Given the description of an element on the screen output the (x, y) to click on. 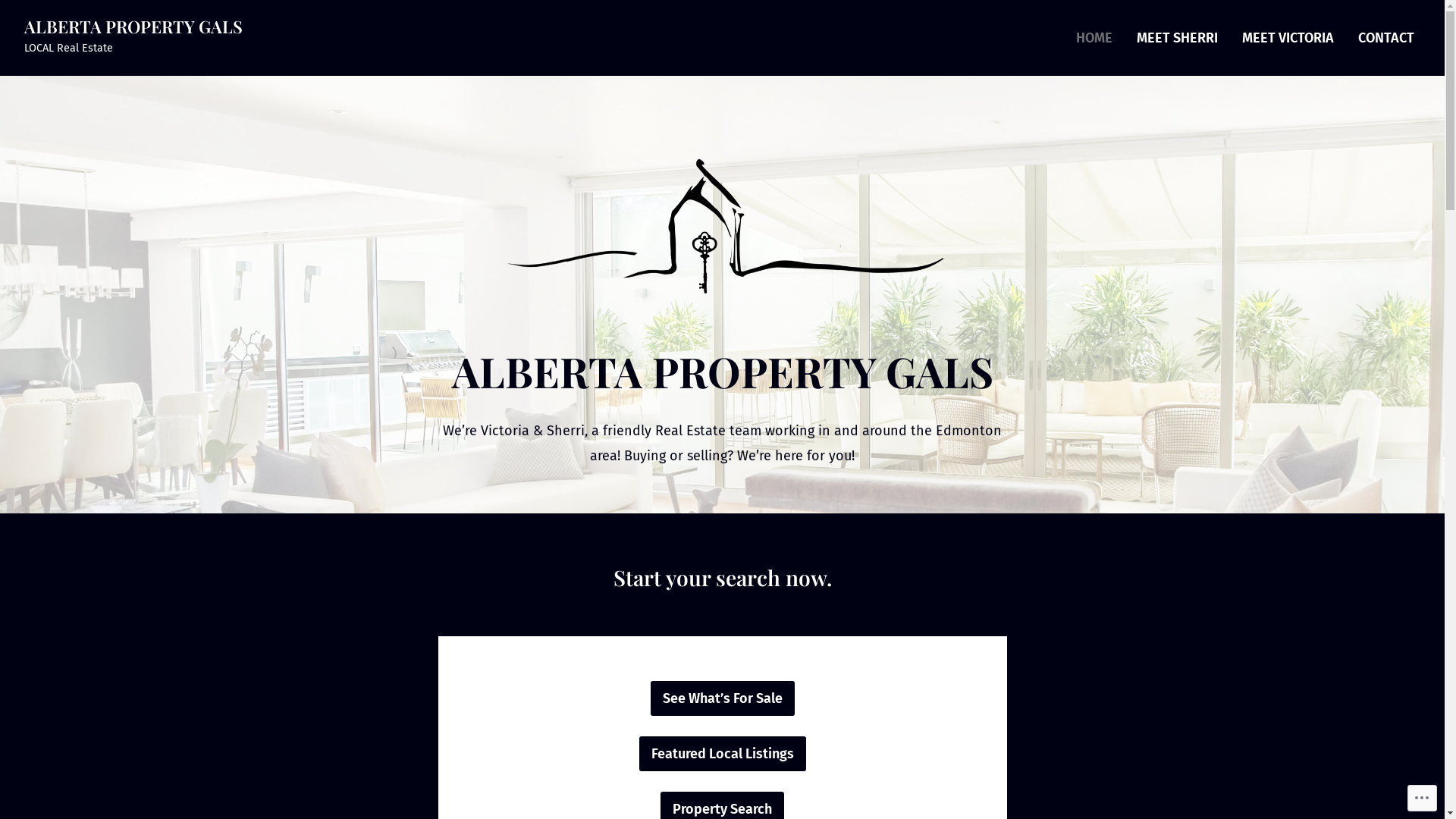
MEET SHERRI Element type: text (1177, 37)
MEET VICTORIA Element type: text (1288, 37)
HOME Element type: text (1093, 37)
ALBERTA PROPERTY GALS Element type: text (133, 26)
CONTACT Element type: text (1386, 37)
Featured Local Listings Element type: text (721, 753)
